Given the description of an element on the screen output the (x, y) to click on. 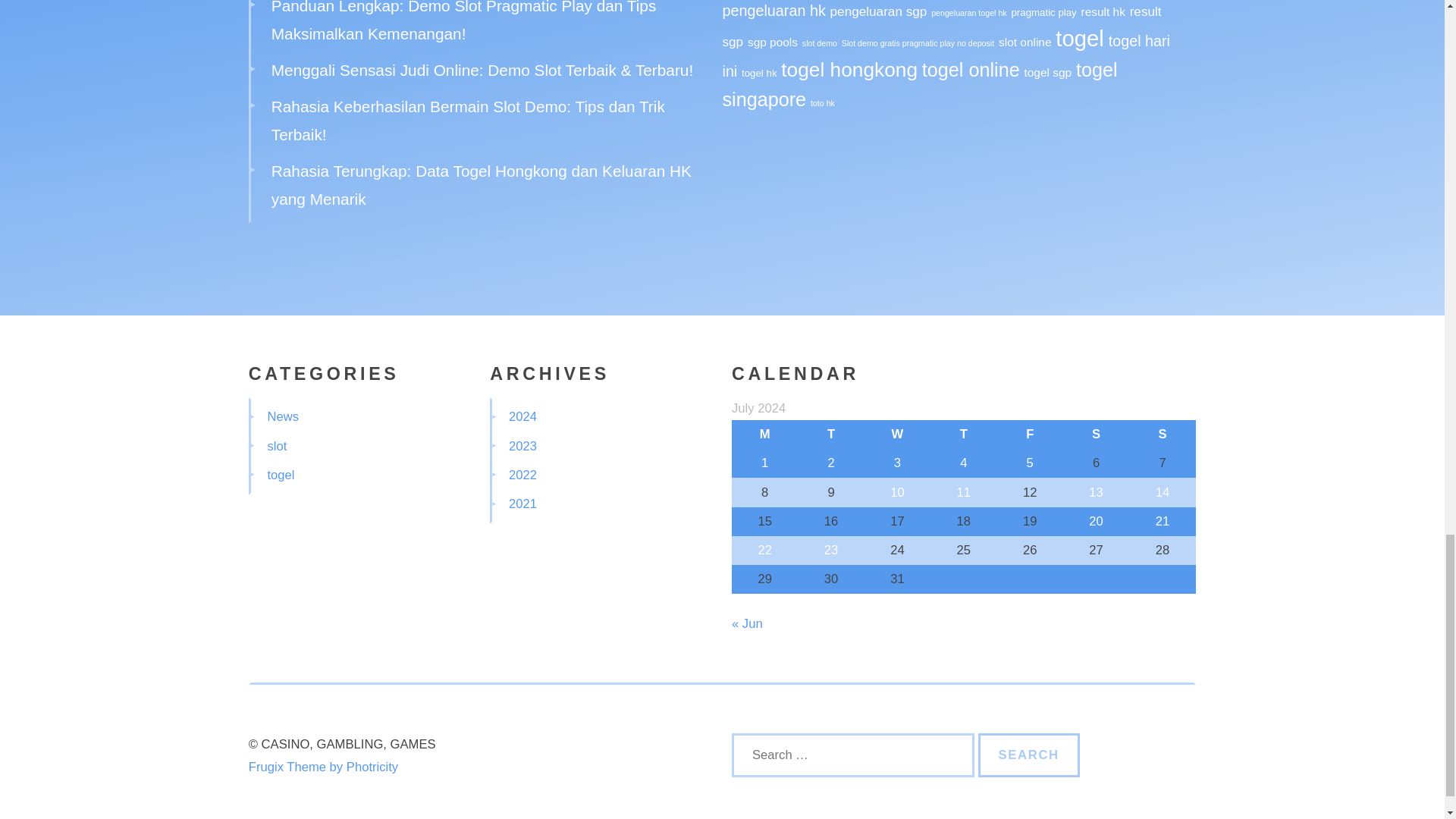
Tuesday (830, 434)
Sunday (1162, 434)
Monday (764, 434)
Saturday (1095, 434)
Search (1029, 755)
Wednesday (897, 434)
Thursday (962, 434)
Friday (1029, 434)
Search (1029, 755)
